Given the description of an element on the screen output the (x, y) to click on. 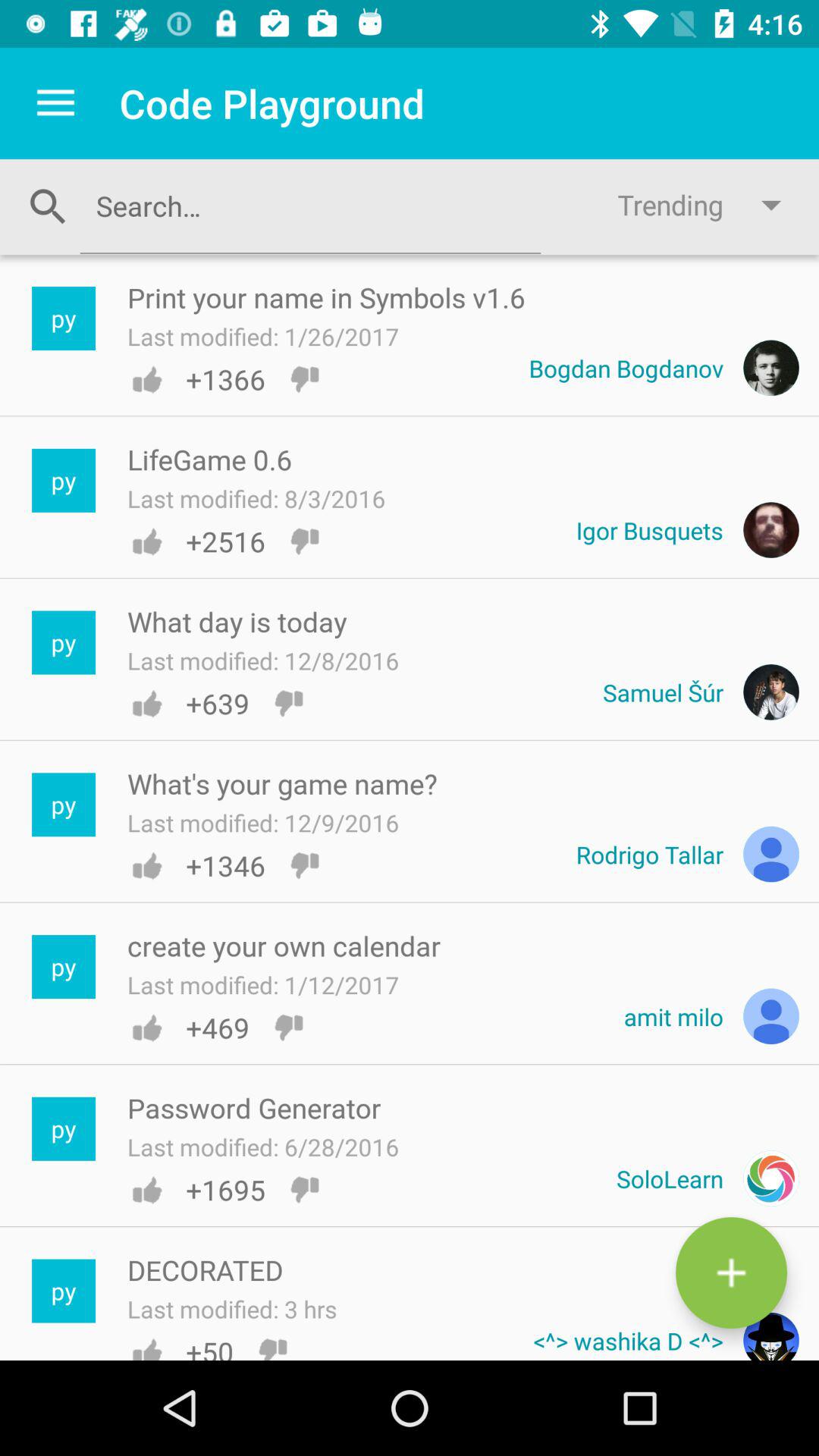
click to search words (310, 205)
